Given the description of an element on the screen output the (x, y) to click on. 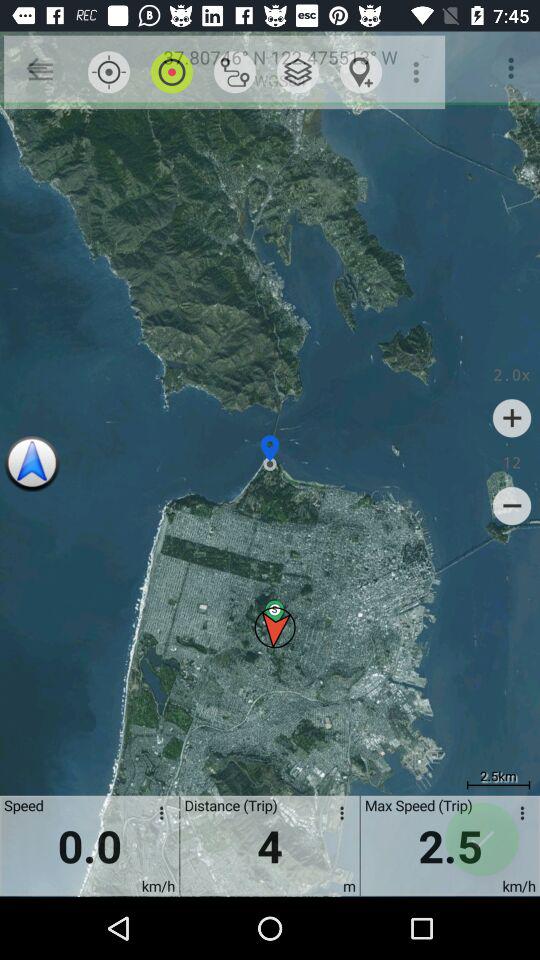
view distance options (338, 816)
